Given the description of an element on the screen output the (x, y) to click on. 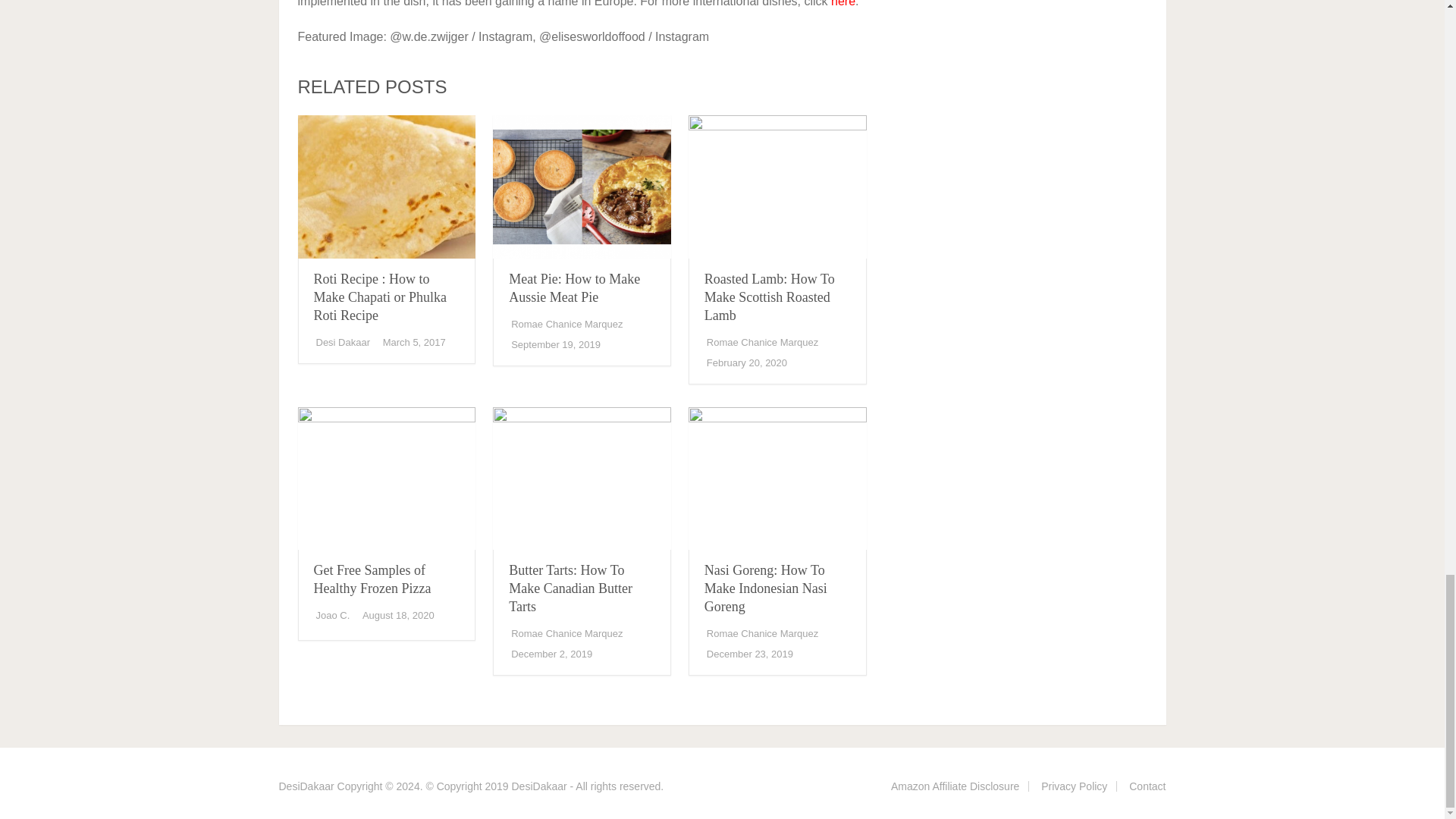
Desi Dakaar (342, 342)
Butter Tarts: How To Make Canadian Butter Tarts (569, 588)
Meat Pie: How to Make Aussie Meat Pie (574, 287)
Roasted Lamb: How To Make Scottish Roasted Lamb (777, 186)
Get Free Samples of Healthy Frozen Pizza (372, 579)
Roti Recipe : How to Make Chapati or Phulka Roti Recipe (386, 186)
Butter Tarts: How To Make Canadian Butter Tarts (569, 588)
Meat Pie: How to Make Aussie Meat Pie (574, 287)
Get Free Samples of Healthy Frozen Pizza (372, 579)
Posts by Joao C. (332, 614)
Nasi Goreng: How To Make Indonesian Nasi Goreng (765, 588)
Posts by Desi Dakaar (342, 342)
Meat Pie: How to Make Aussie Meat Pie (582, 186)
Joao C. (332, 614)
Posts by Romae Chanice Marquez (567, 324)
